Given the description of an element on the screen output the (x, y) to click on. 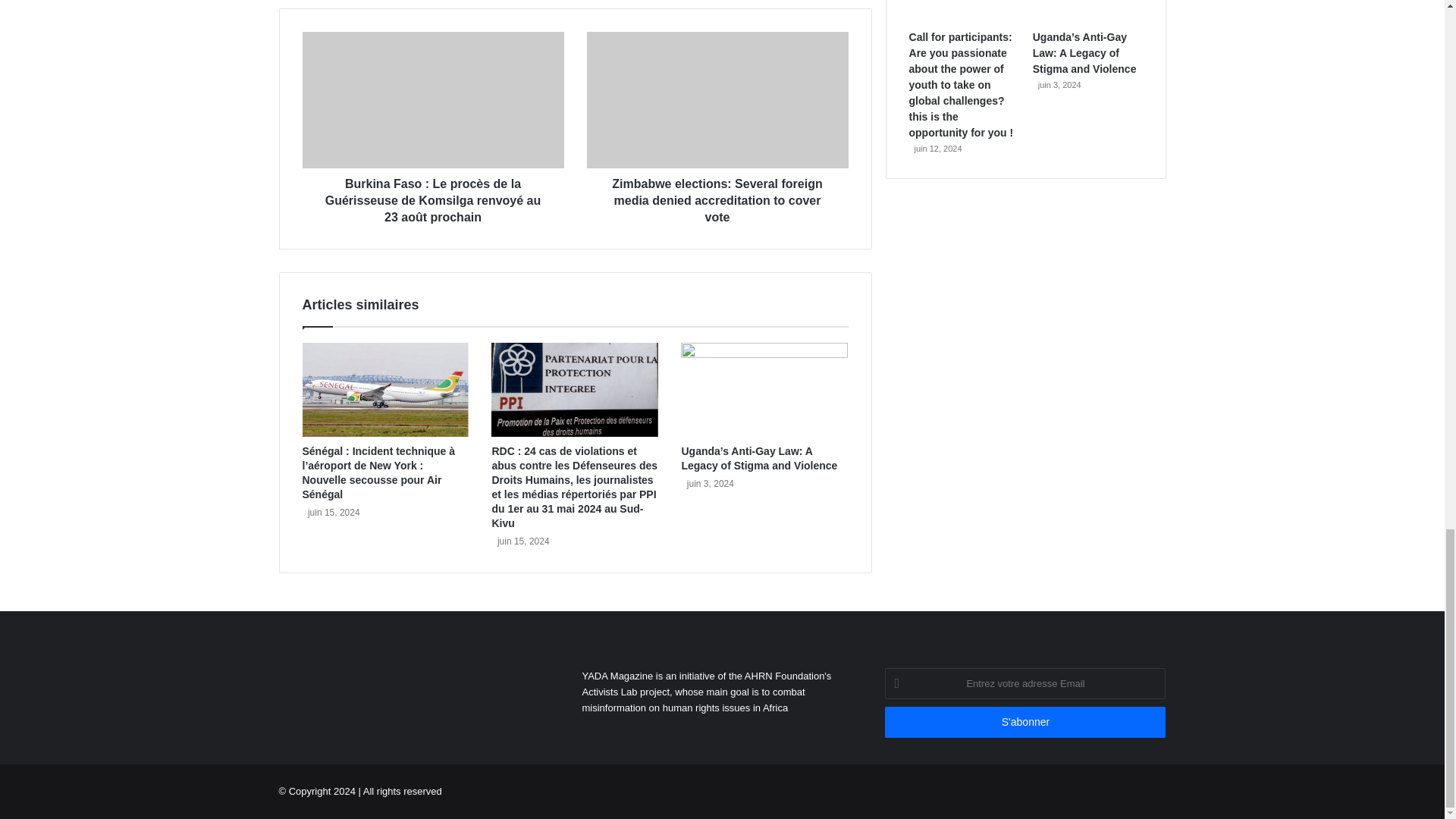
S'abonner (1025, 721)
